Given the description of an element on the screen output the (x, y) to click on. 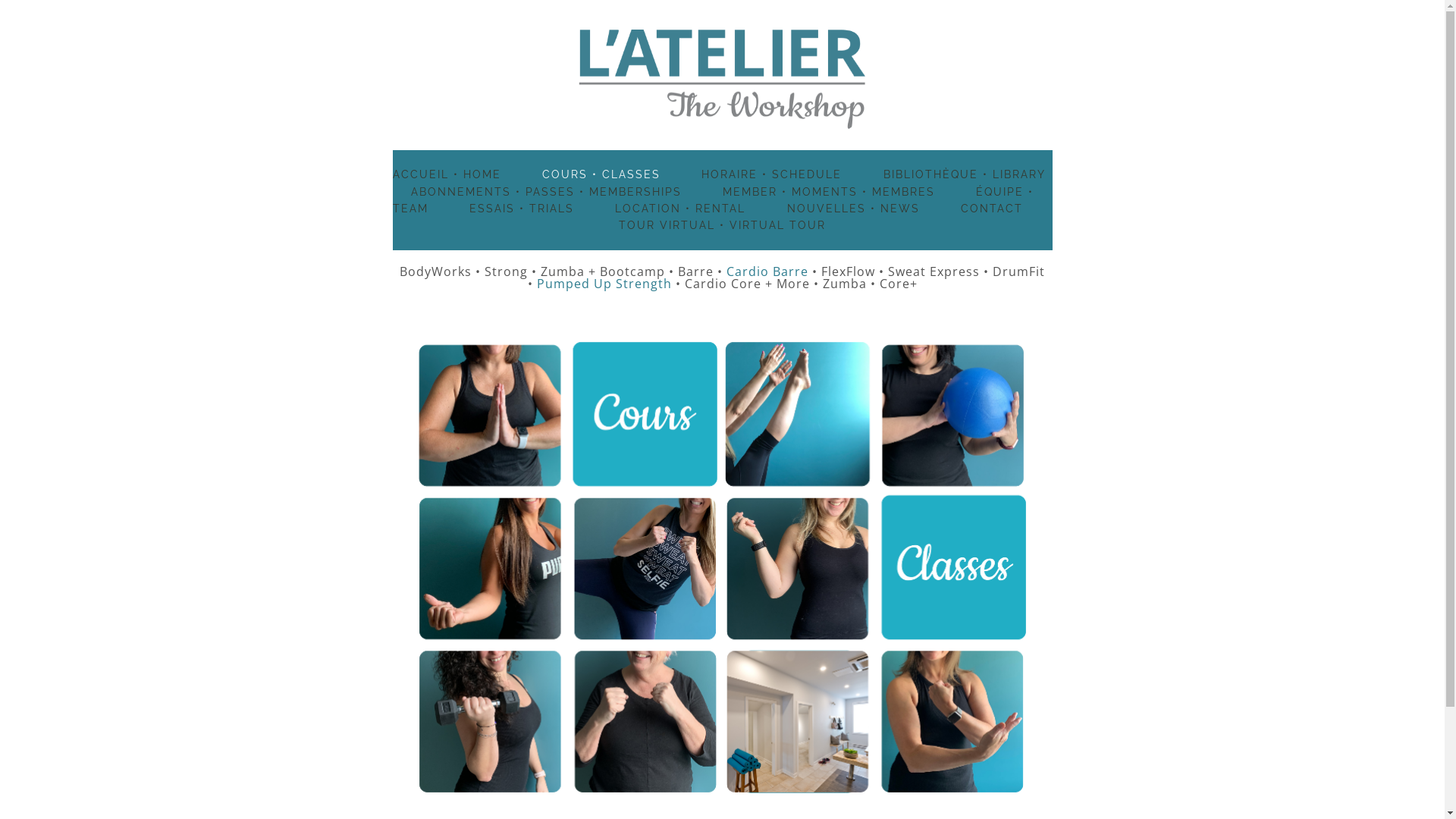
CONTACT Element type: text (991, 207)
Cardio Barre Element type: text (767, 271)
Pumped Up Strength  Element type: text (605, 283)
Cardio Core + More Element type: text (746, 283)
